Given the description of an element on the screen output the (x, y) to click on. 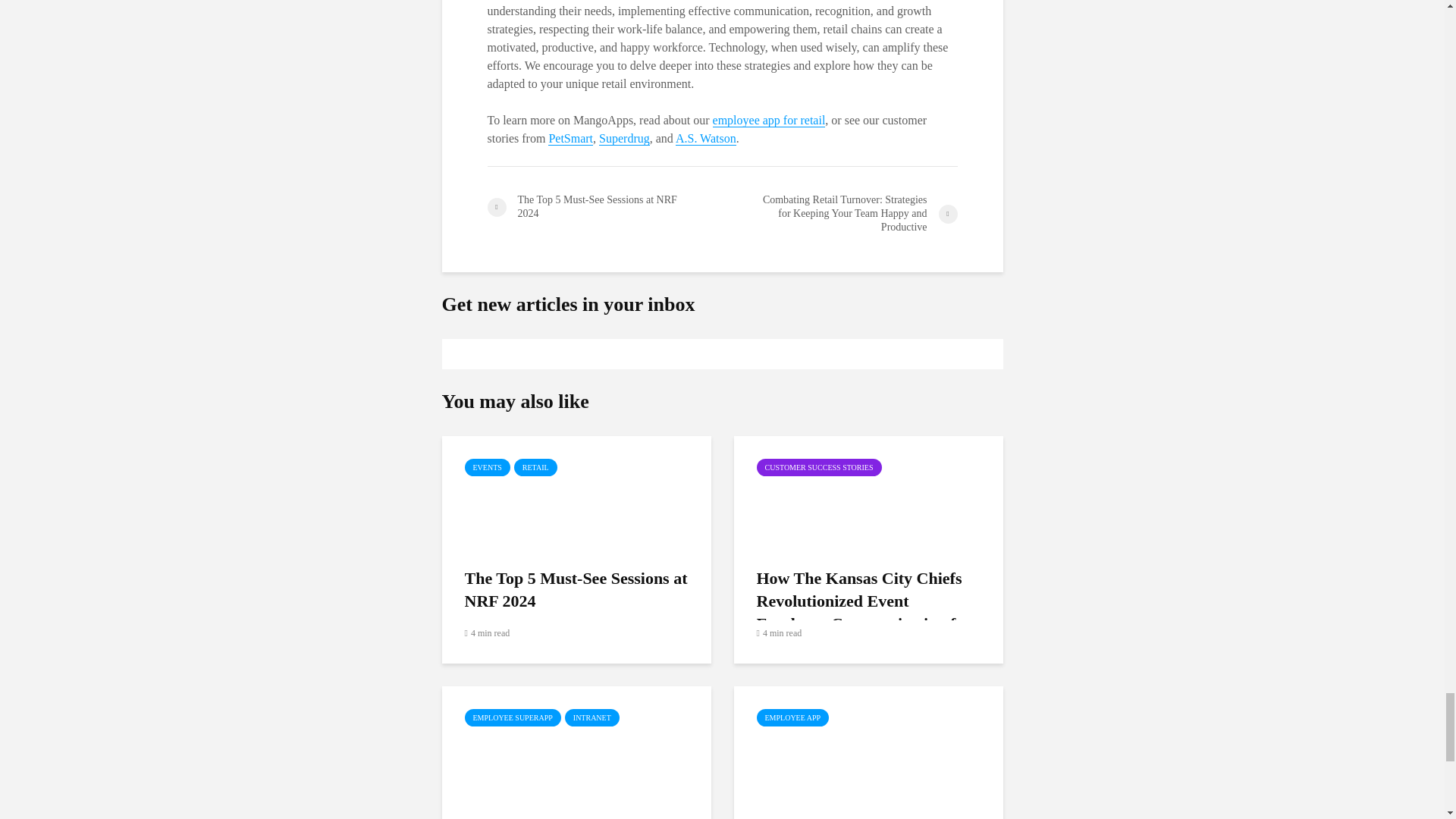
The Unique Use Cases of an Intranet and Employee App (575, 741)
employee app for retail (769, 120)
The Top 5 Must-See Sessions at NRF 2024 (604, 206)
INTRANET (592, 717)
EMPLOYEE APP (793, 717)
The Top 5 Must-See Sessions at NRF 2024 (575, 491)
